Given the description of an element on the screen output the (x, y) to click on. 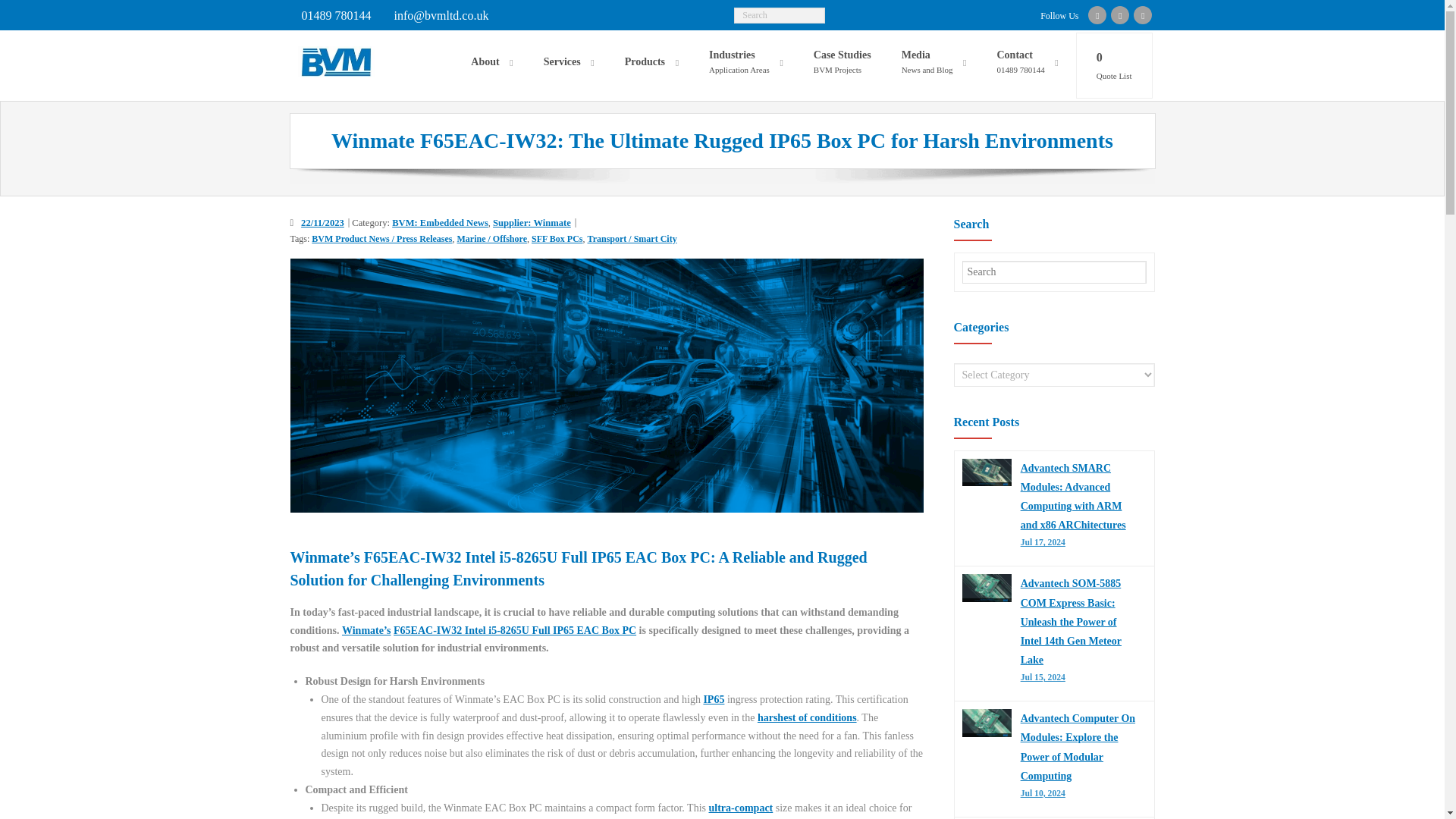
Services (569, 62)
About (491, 62)
Search (24, 11)
01489 780144 (335, 15)
Products (652, 62)
